Given the description of an element on the screen output the (x, y) to click on. 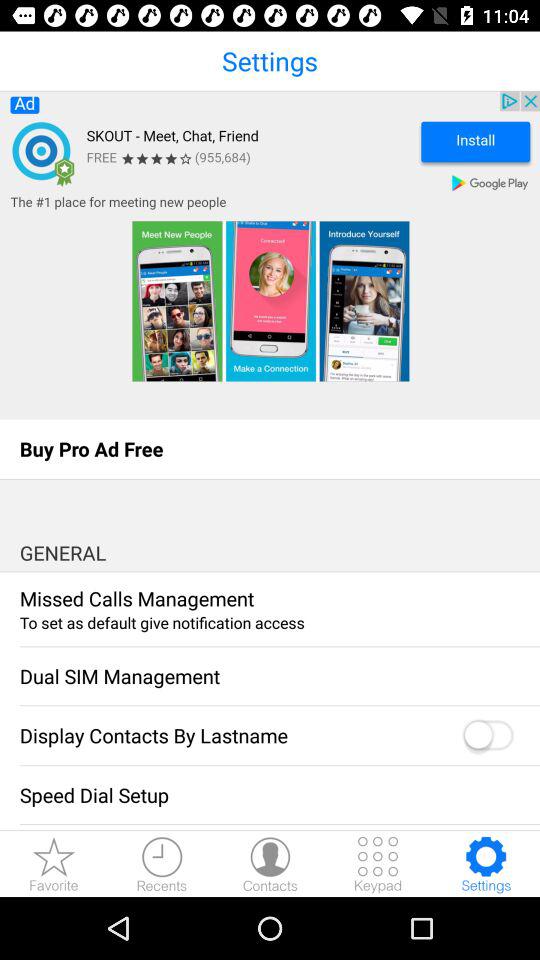
bring up keypad (377, 864)
